Given the description of an element on the screen output the (x, y) to click on. 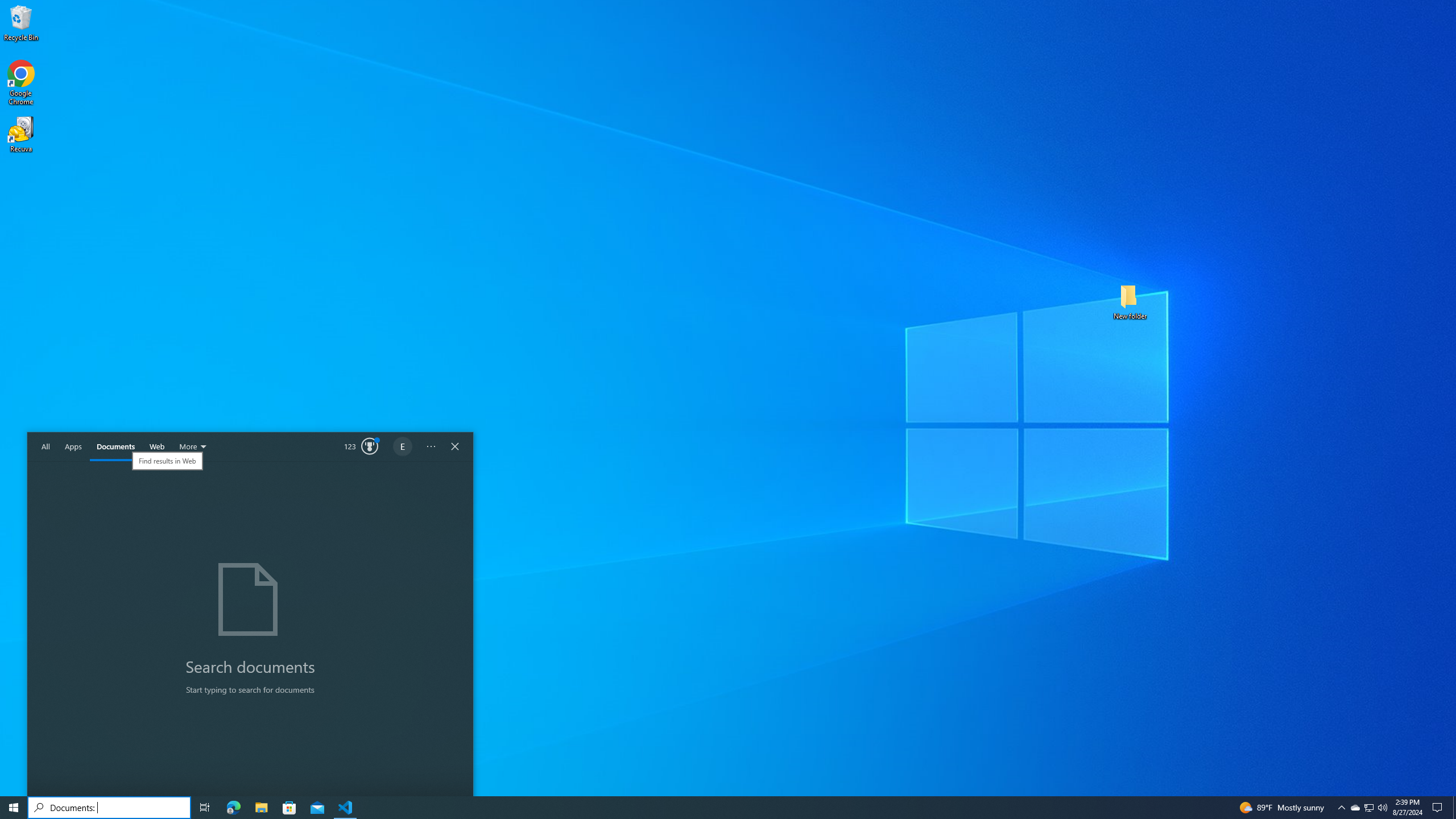
User Promoted Notification Area (1368, 807)
Start (1355, 807)
Documents (13, 807)
Search box (115, 447)
Action Center, No new notifications (108, 807)
Notification Chevron (1439, 807)
Web (1341, 807)
All (156, 447)
More (45, 447)
EugeneLedger601@outlook.com (194, 447)
Show desktop (403, 447)
Options (1454, 807)
